Given the description of an element on the screen output the (x, y) to click on. 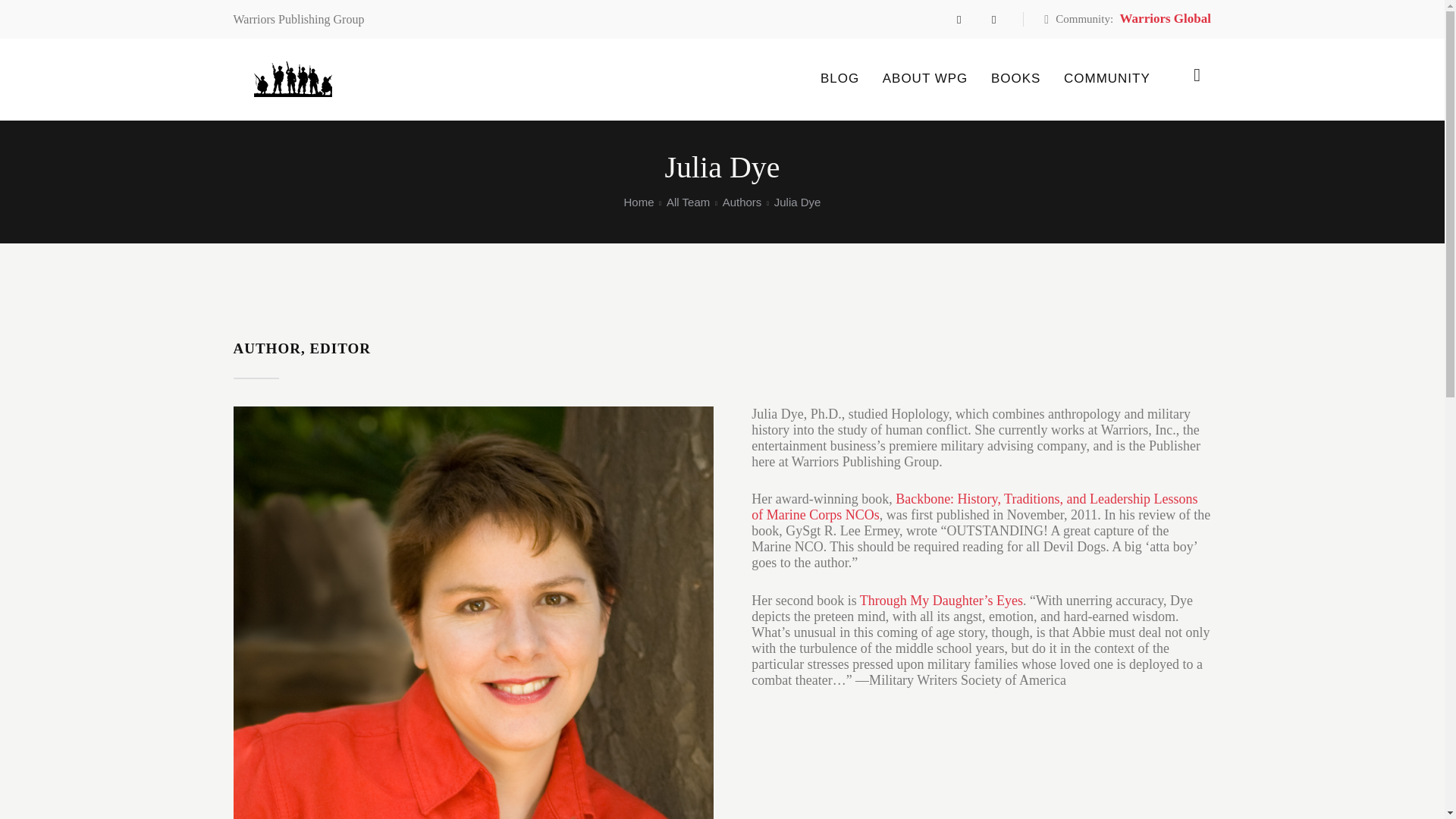
COMMUNITY (1106, 79)
Community:Warriors Global (1127, 19)
Authors (741, 204)
BOOKS (1015, 79)
ABOUT WPG (924, 79)
All Team (688, 204)
Home (638, 204)
BLOG (839, 79)
